Given the description of an element on the screen output the (x, y) to click on. 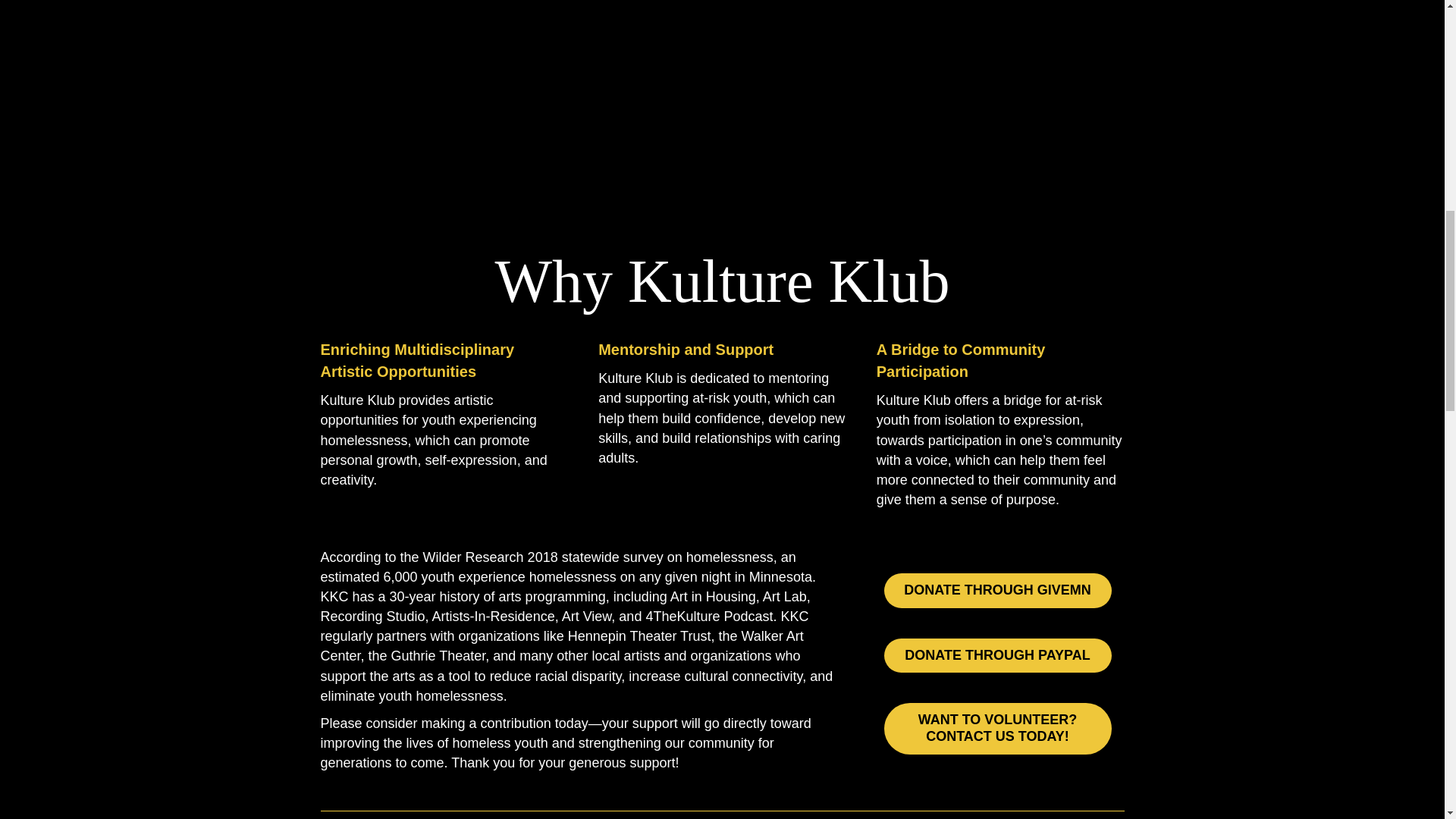
DONATE THROUGH PAYPAL (997, 655)
DONATE THROUGH GIVEMN (997, 590)
WANT TO VOLUNTEER? CONTACT US TODAY! (997, 727)
